Given the description of an element on the screen output the (x, y) to click on. 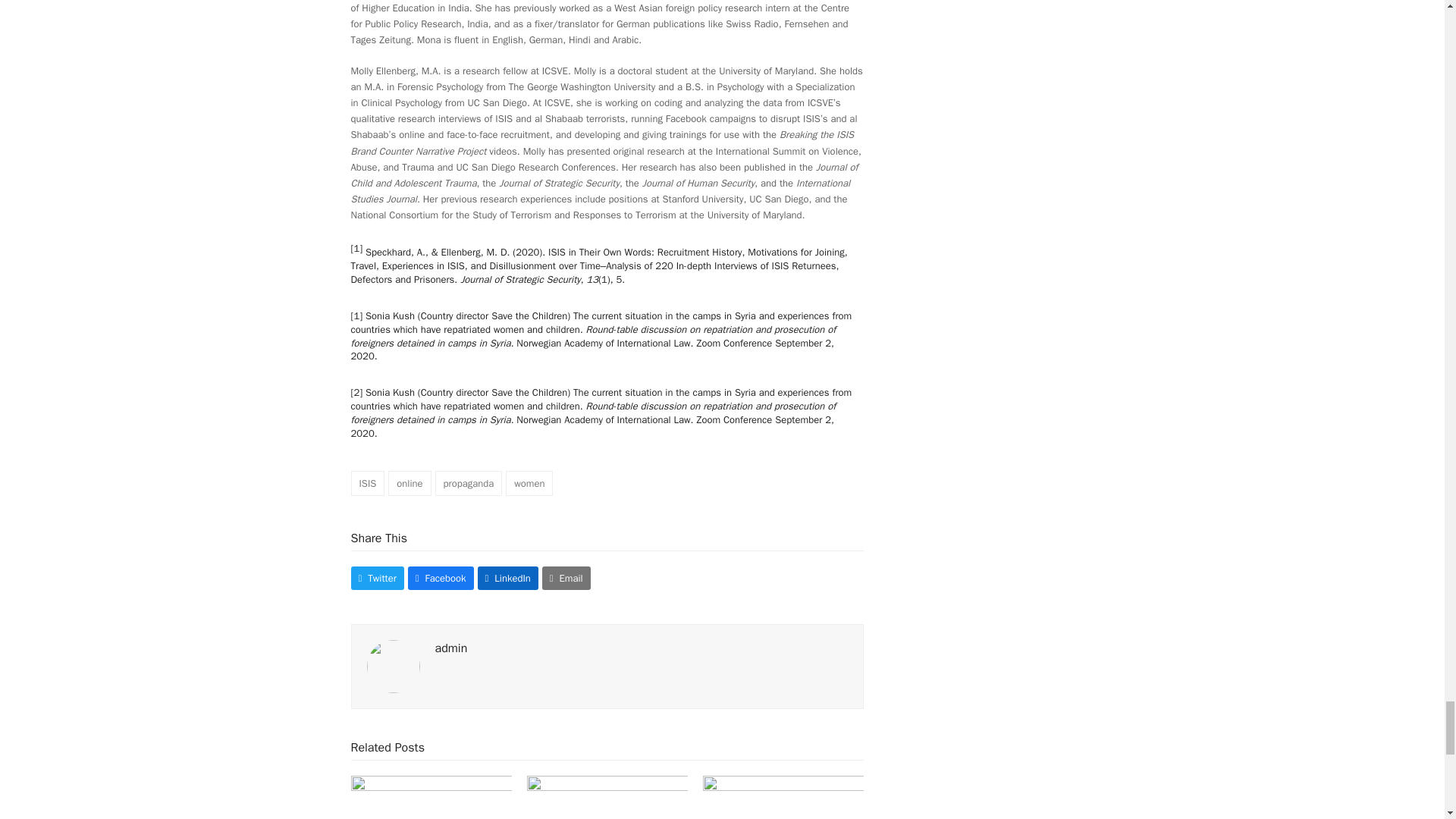
Visit Author Page (393, 665)
Visit Author Page (451, 648)
